Given the description of an element on the screen output the (x, y) to click on. 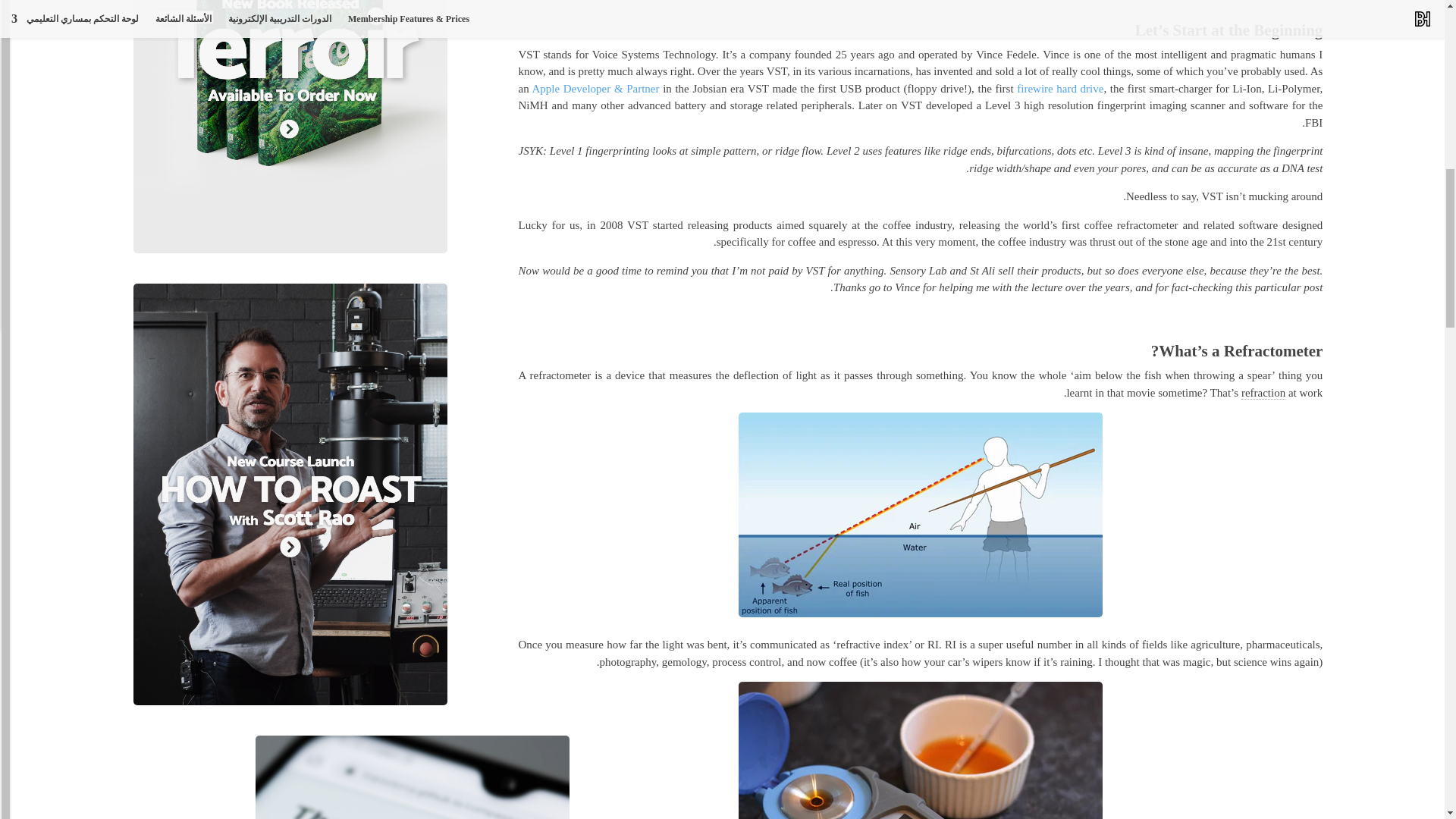
New Poster Rolls - Header Mobile 03 (413, 777)
firewire hard drive (1059, 87)
Terroir Cover - Blog Sidebar Ad 02 (290, 126)
refraction (1263, 392)
